Given the description of an element on the screen output the (x, y) to click on. 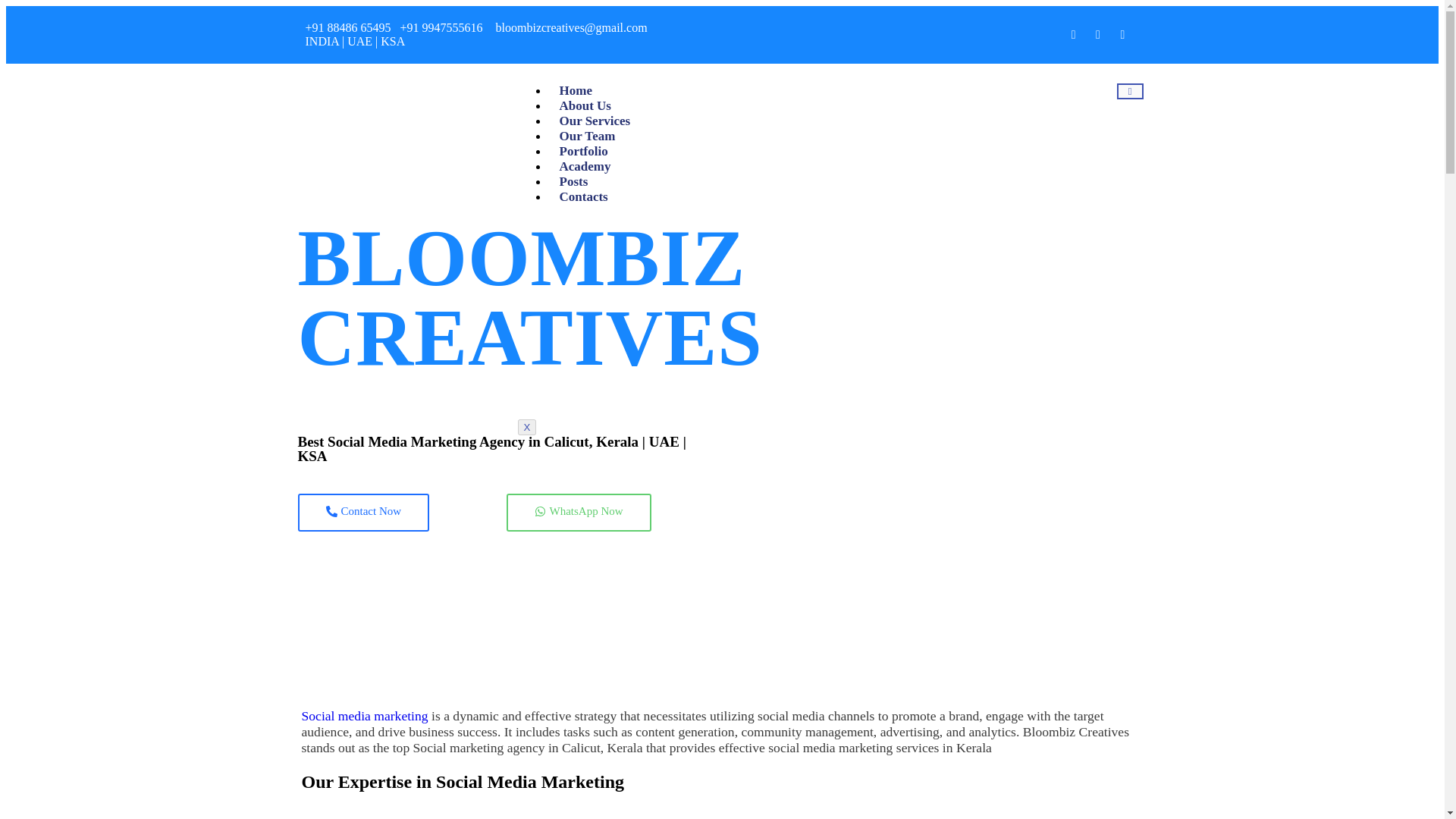
Portfolio (582, 151)
Our Team (586, 135)
About Us (585, 105)
Social media marketing (364, 715)
Academy (584, 165)
Home (574, 90)
Contact Now (363, 511)
Posts (572, 181)
WhatsApp Now (578, 511)
X (525, 426)
Our Services (594, 120)
Contacts (582, 196)
